Given the description of an element on the screen output the (x, y) to click on. 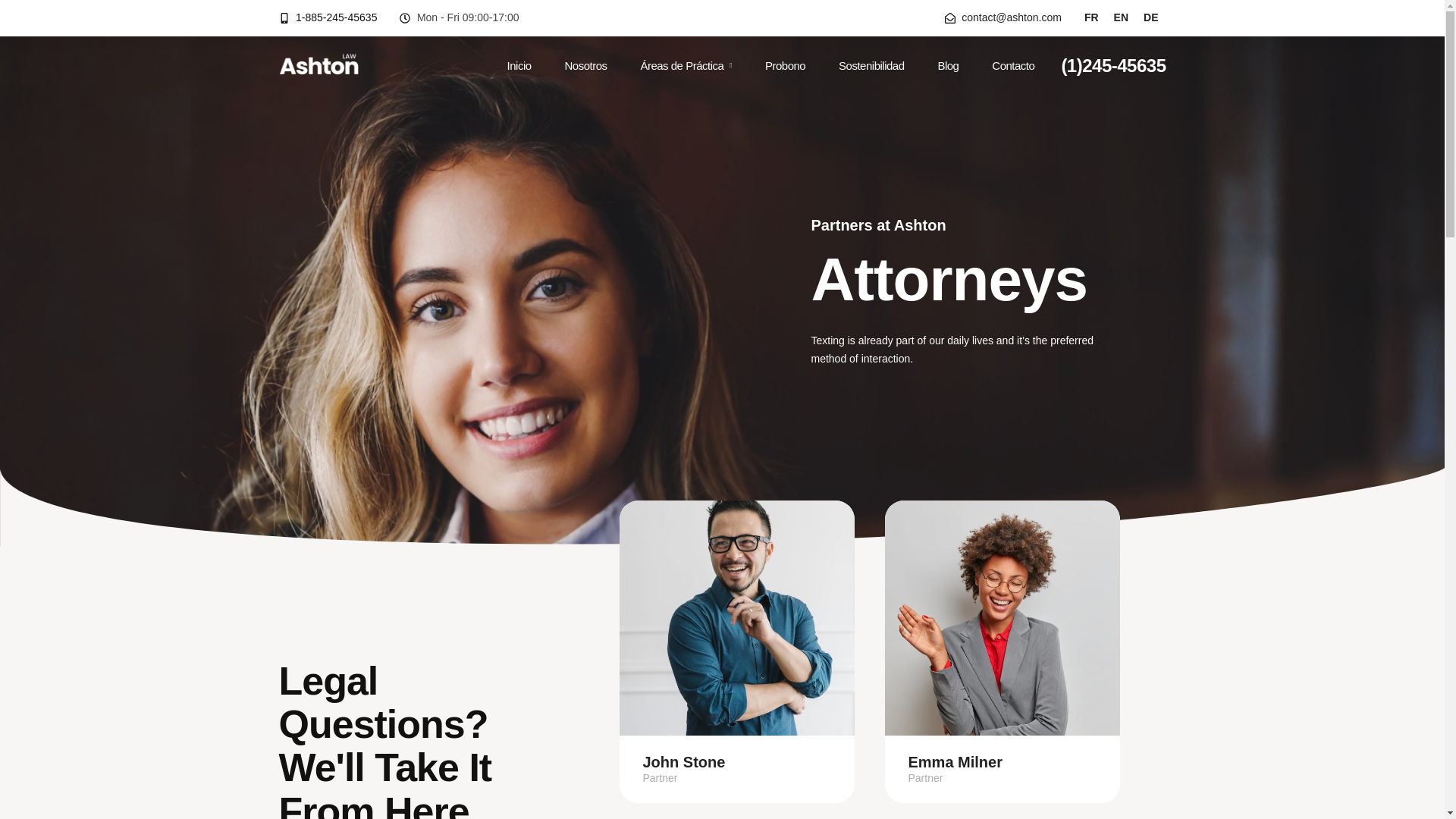
1-885-245-45635 (328, 18)
Nosotros (585, 65)
Probono (785, 65)
Blog (947, 65)
Contacto (1013, 65)
Sostenibilidad (870, 65)
Inicio (519, 65)
